Given the description of an element on the screen output the (x, y) to click on. 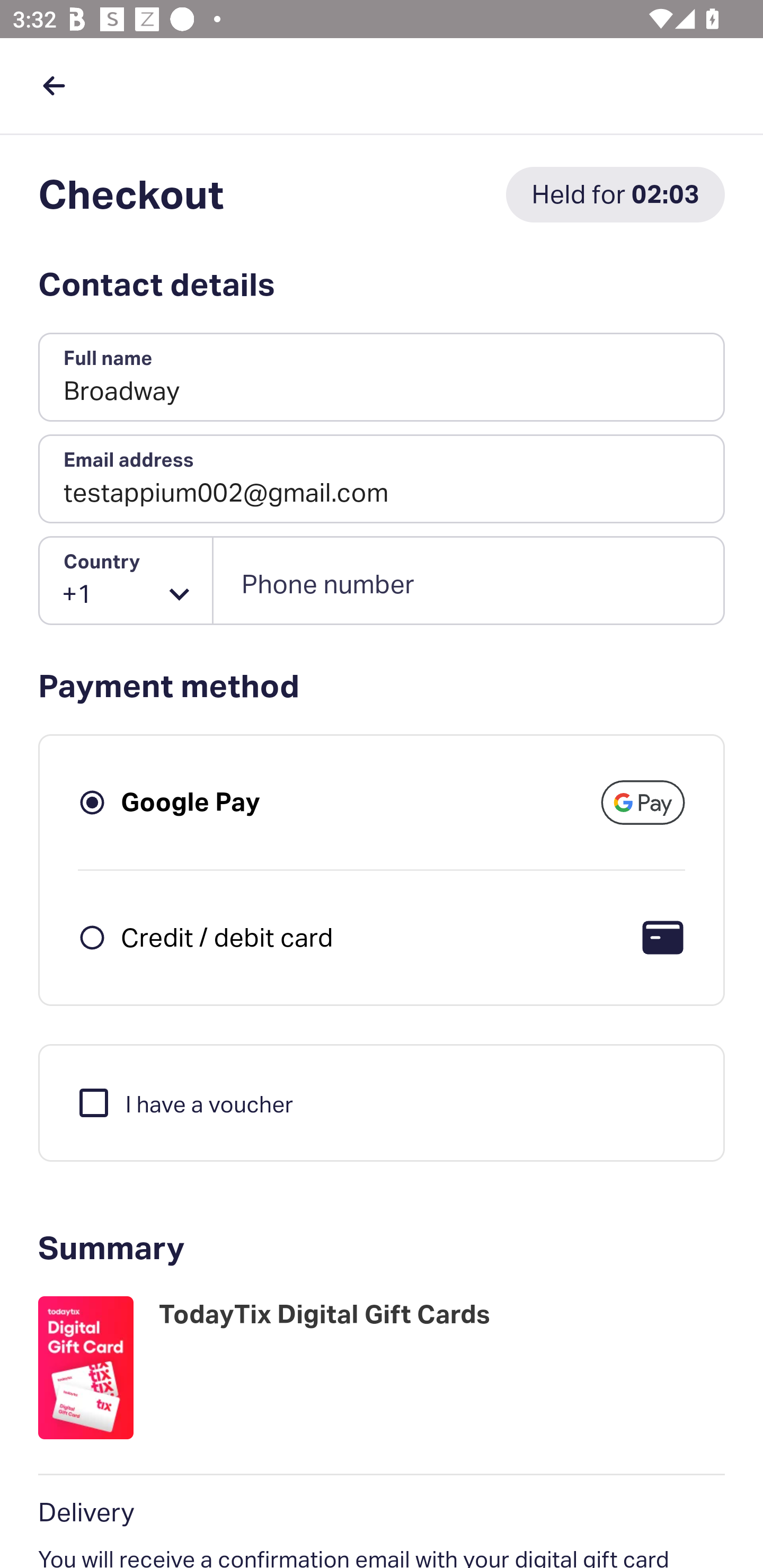
back button (53, 85)
Broadway (381, 377)
testappium002@gmail.com (381, 478)
  +1 (126, 580)
Google Pay (190, 802)
Credit / debit card (227, 936)
I have a voucher (183, 1101)
